Given the description of an element on the screen output the (x, y) to click on. 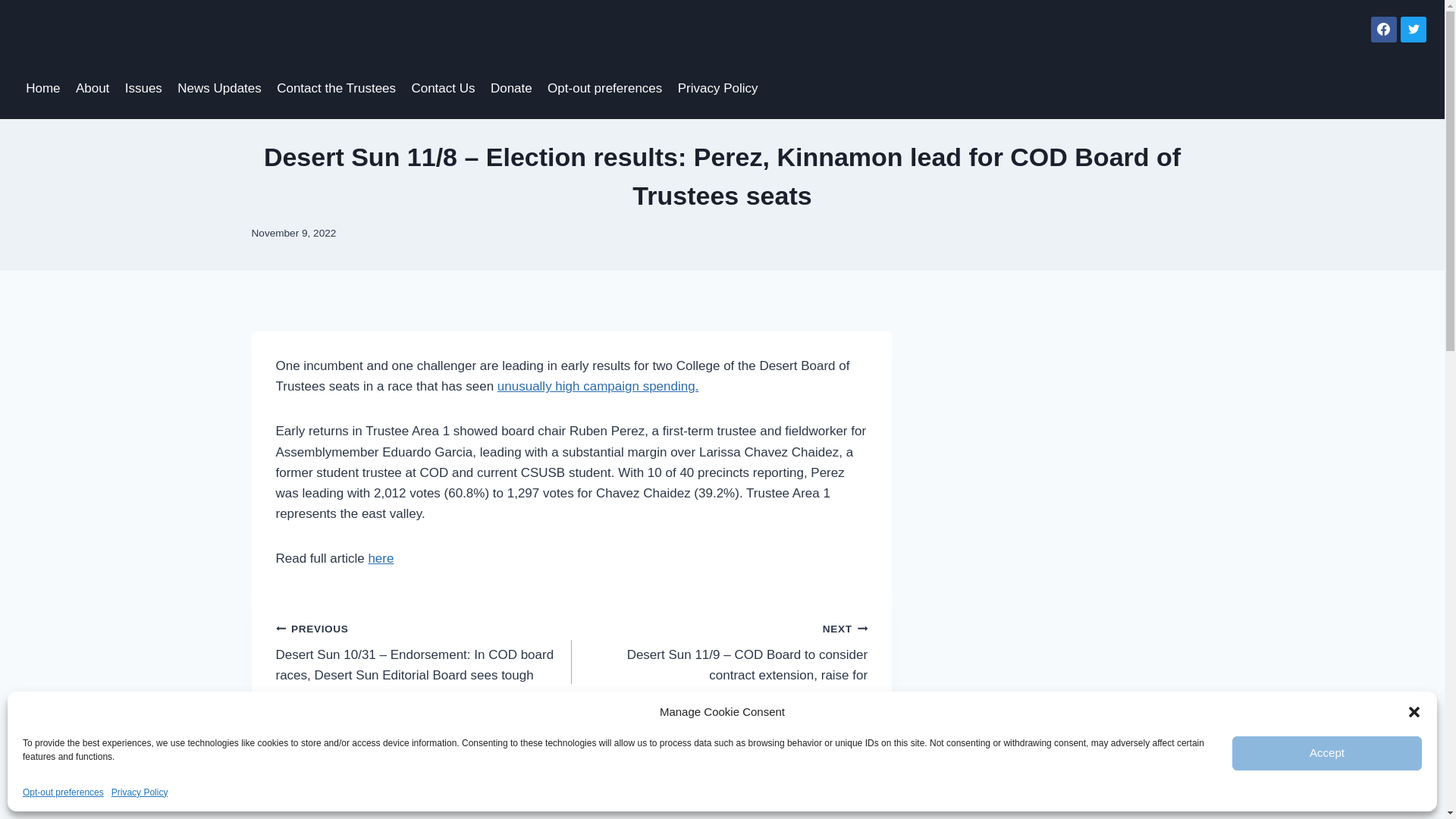
Privacy Policy (717, 88)
Opt-out preferences (604, 88)
News Updates (219, 88)
Donate (511, 88)
here (380, 558)
Accept (1326, 753)
Contact Us (442, 88)
Home (42, 88)
Privacy Policy (140, 792)
Issues (143, 88)
unusually high campaign spending. (597, 386)
About (92, 88)
Contact the Trustees (336, 88)
Opt-out preferences (63, 792)
